Given the description of an element on the screen output the (x, y) to click on. 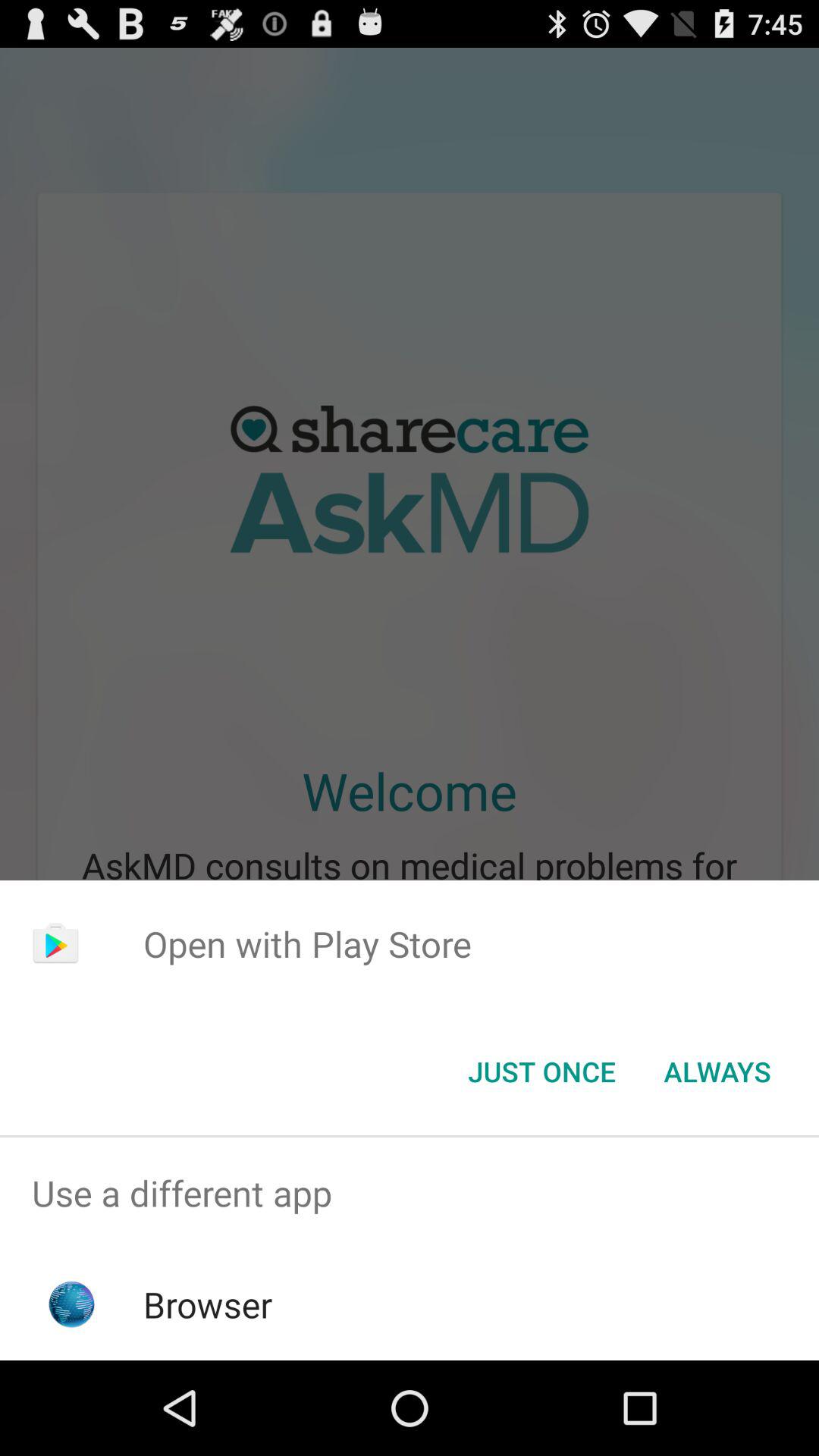
tap button to the right of the just once item (717, 1071)
